Given the description of an element on the screen output the (x, y) to click on. 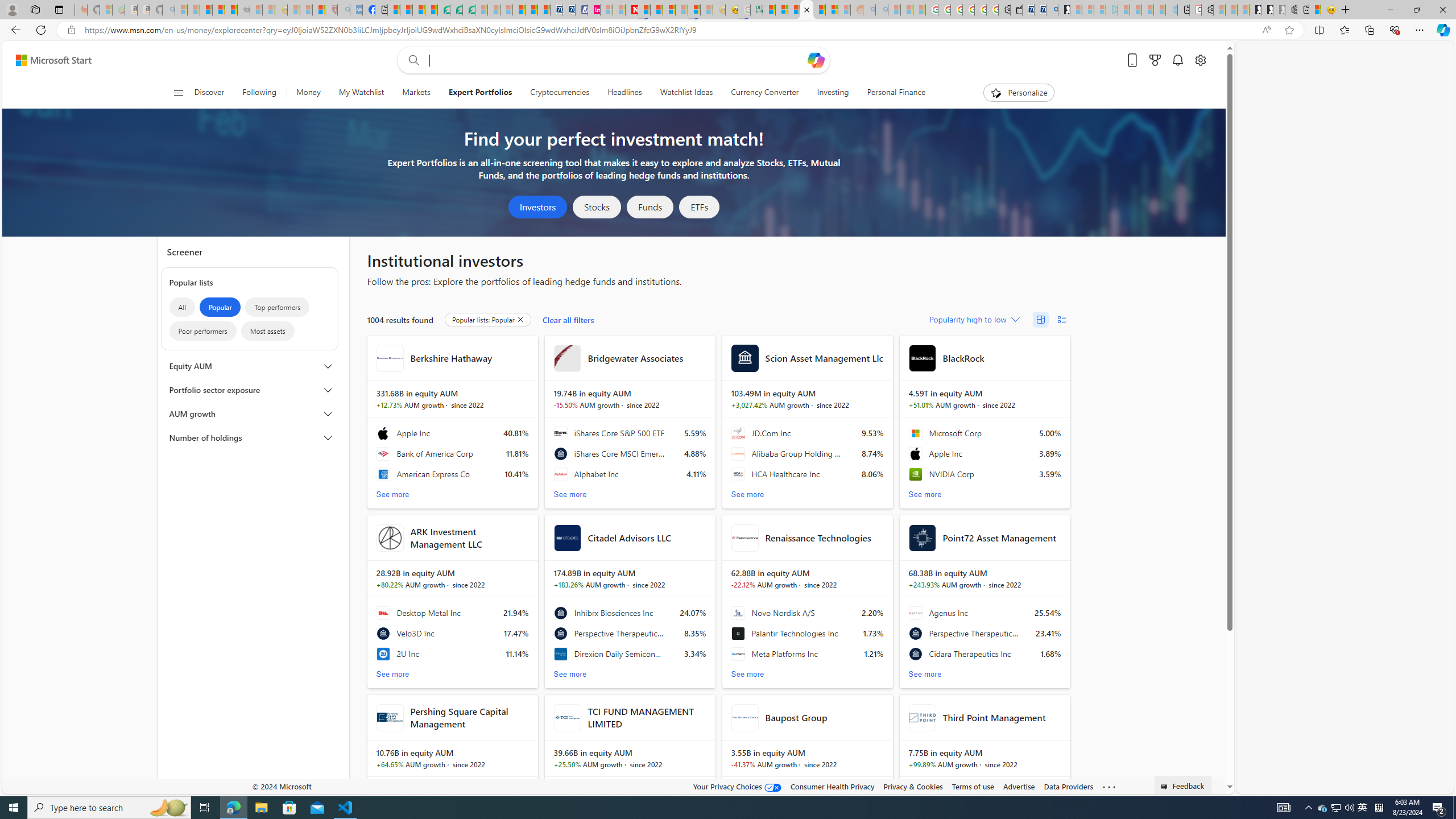
Local - MSN (318, 9)
